Given the description of an element on the screen output the (x, y) to click on. 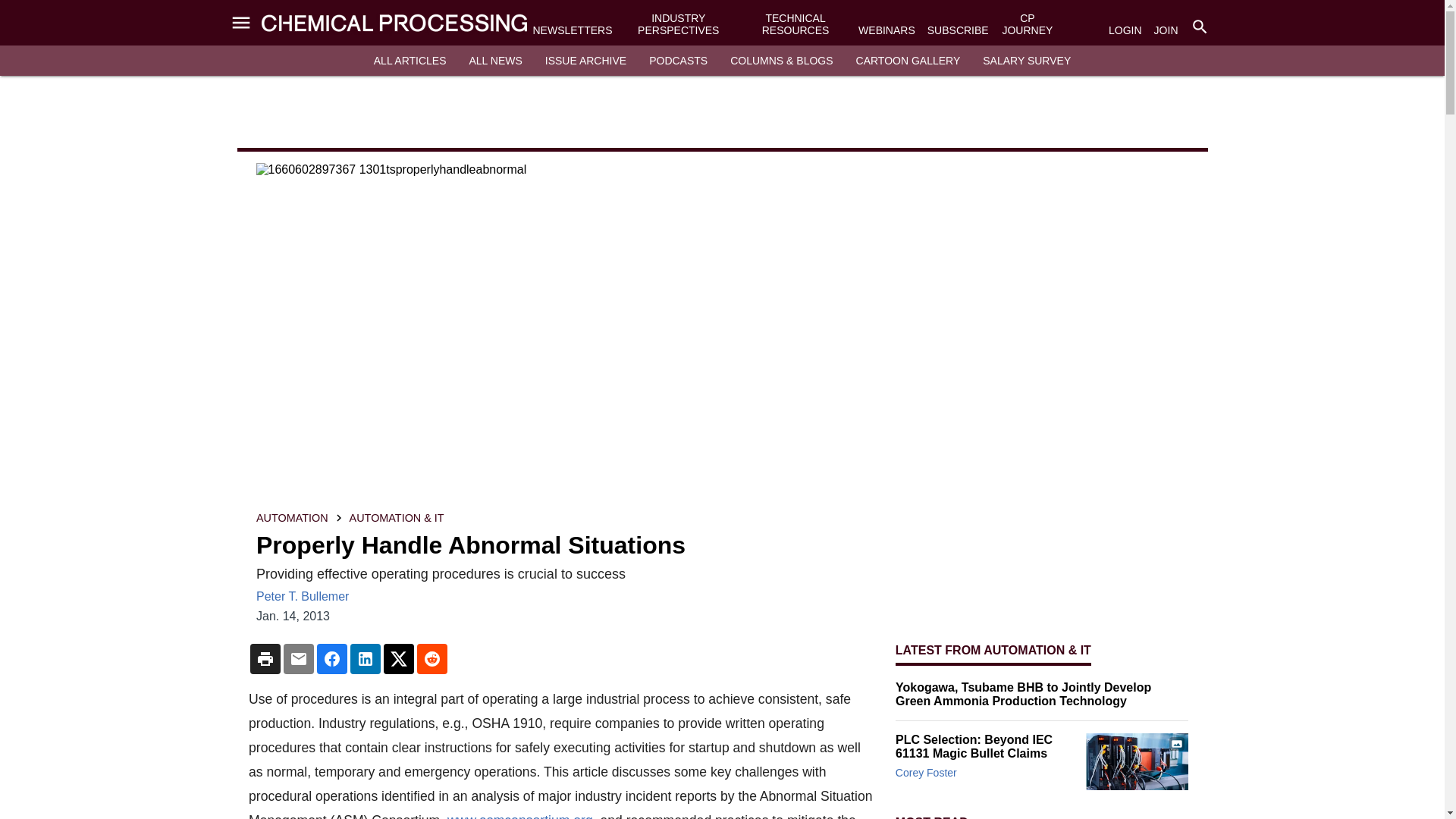
ALL NEWS (494, 60)
INDUSTRY PERSPECTIVES (678, 24)
PODCASTS (678, 60)
ALL ARTICLES (410, 60)
SALARY SURVEY (1026, 60)
NEWSLETTERS (571, 30)
SUBSCRIBE (957, 30)
CP JOURNEY (1026, 24)
TECHNICAL RESOURCES (795, 24)
